Given the description of an element on the screen output the (x, y) to click on. 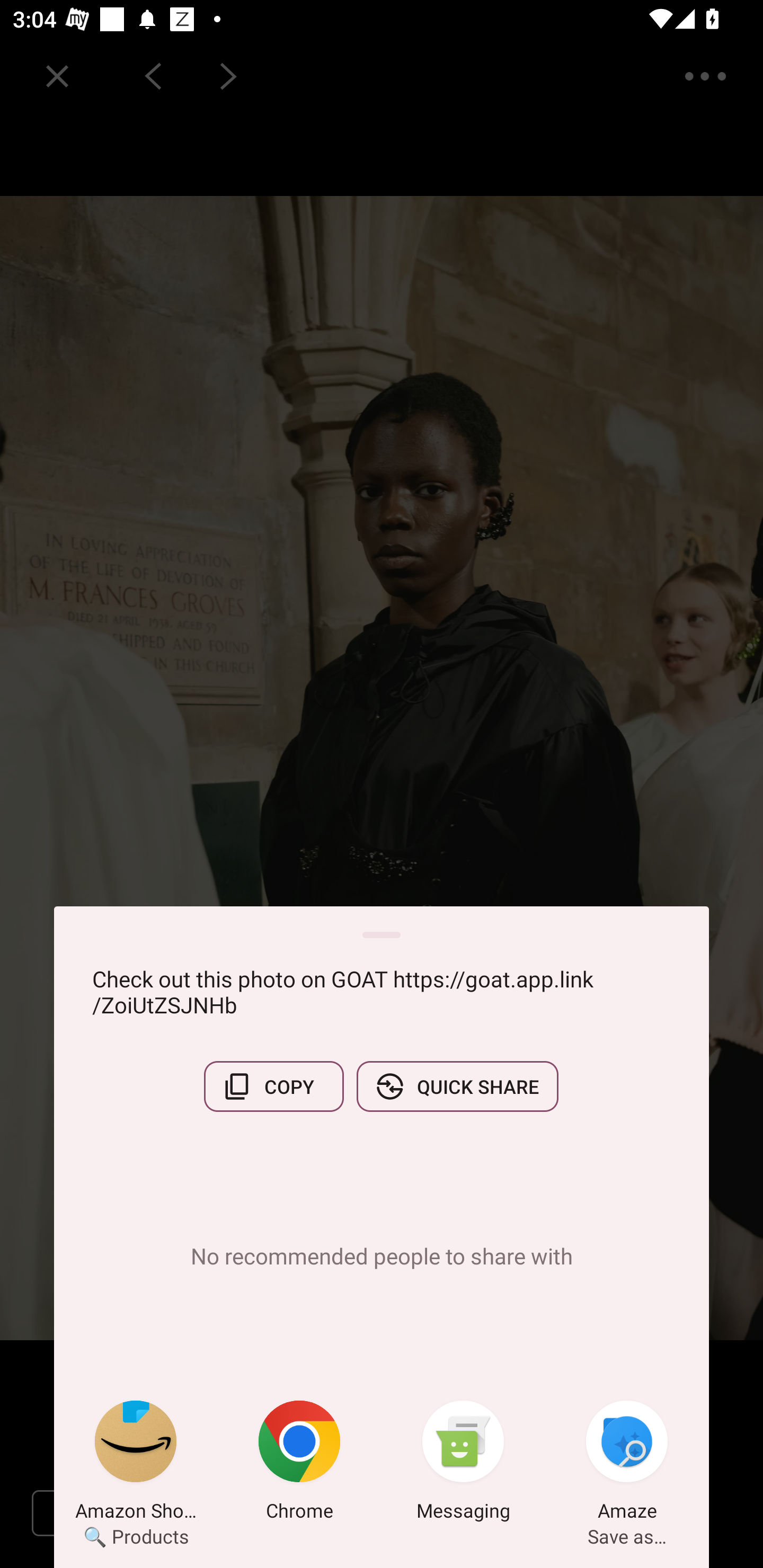
COPY (273, 1086)
QUICK SHARE (457, 1086)
Amazon Shopping 🔍 Products (135, 1463)
Chrome (299, 1463)
Messaging (463, 1463)
Amaze Save as… (626, 1463)
